Given the description of an element on the screen output the (x, y) to click on. 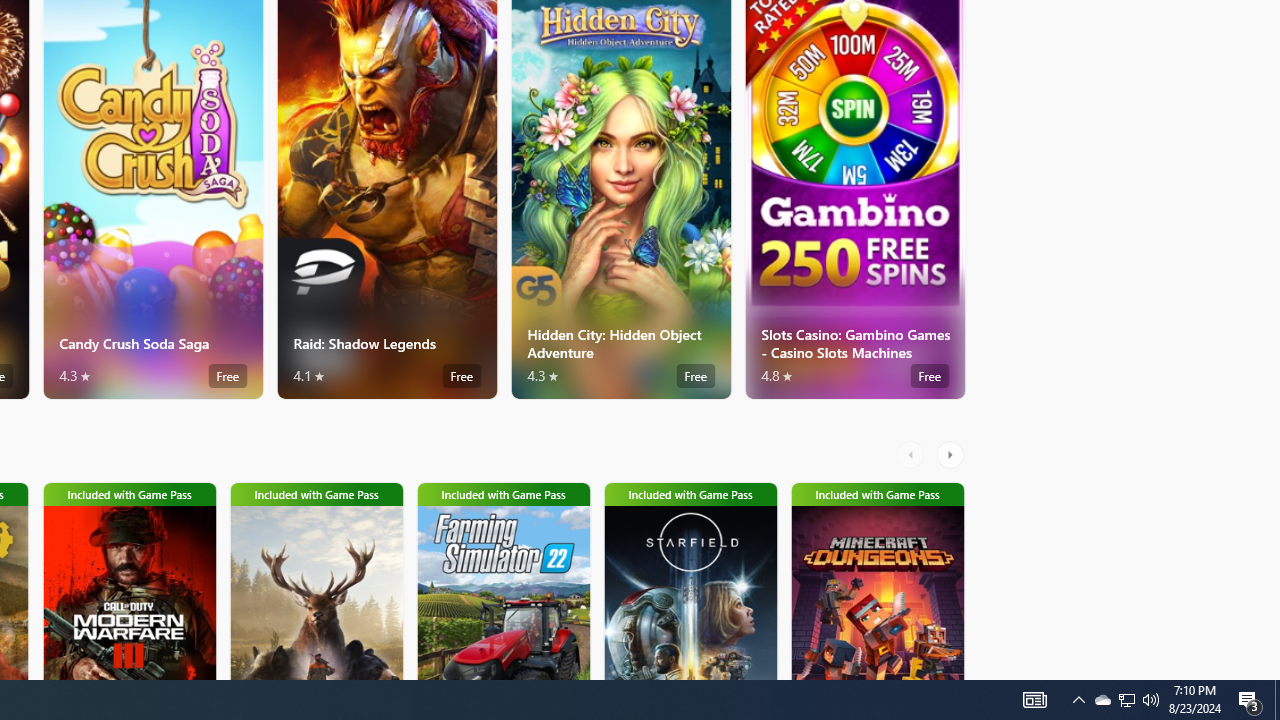
AutomationID: RightScrollButton (952, 454)
AutomationID: LeftScrollButton (913, 454)
Vertical Small Increase (1272, 672)
